Given the description of an element on the screen output the (x, y) to click on. 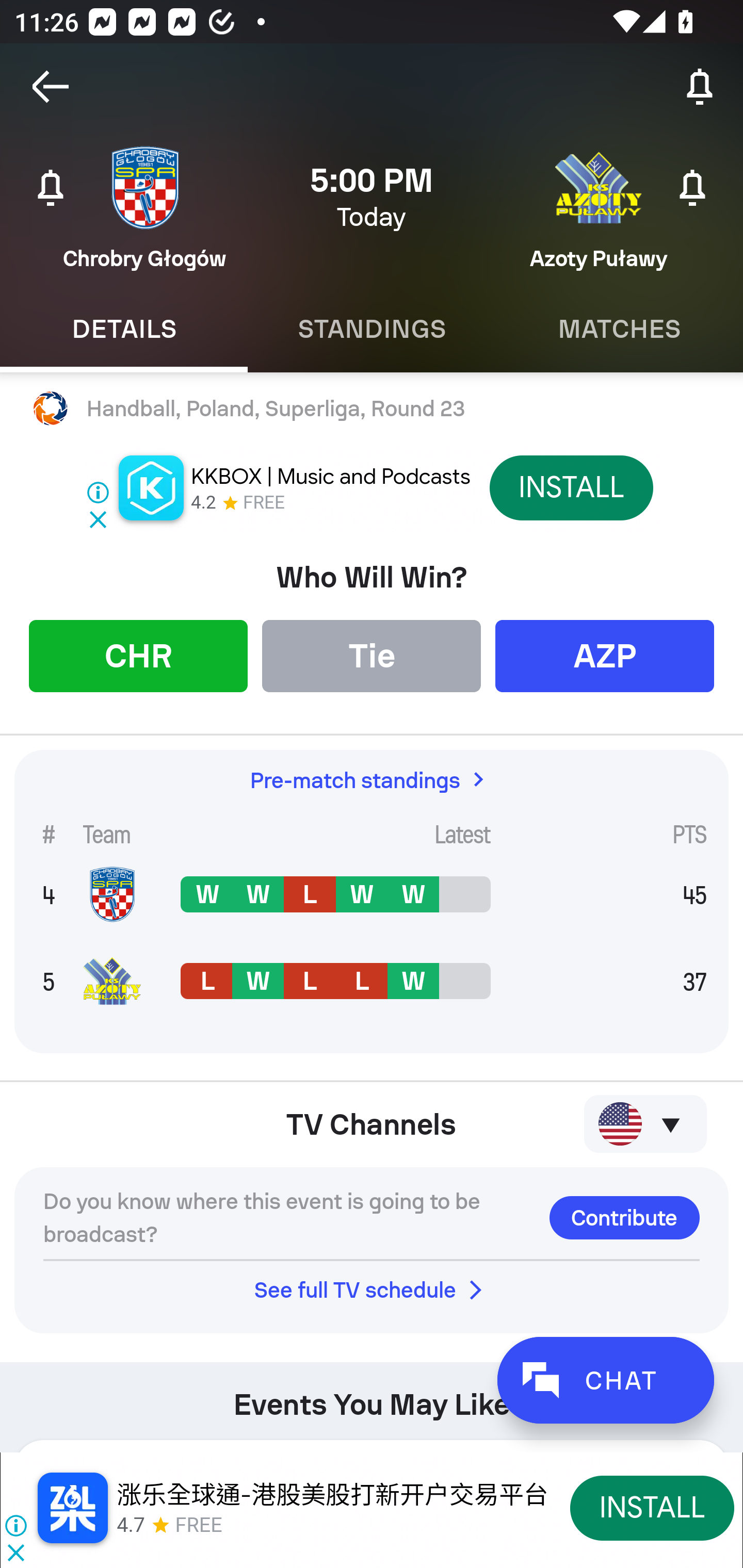
Navigate up (50, 86)
Standings STANDINGS (371, 329)
Matches MATCHES (619, 329)
Handball, Poland, Superliga, Round 23 (371, 409)
INSTALL (570, 487)
KKBOX | Music and Podcasts (330, 476)
CHR (137, 655)
Tie (371, 655)
AZP (604, 655)
Contribute (624, 1217)
See full TV schedule (371, 1289)
CHAT (605, 1380)
INSTALL (652, 1507)
涨乐全球通-港股美股打新开户交易平台 (332, 1494)
